Given the description of an element on the screen output the (x, y) to click on. 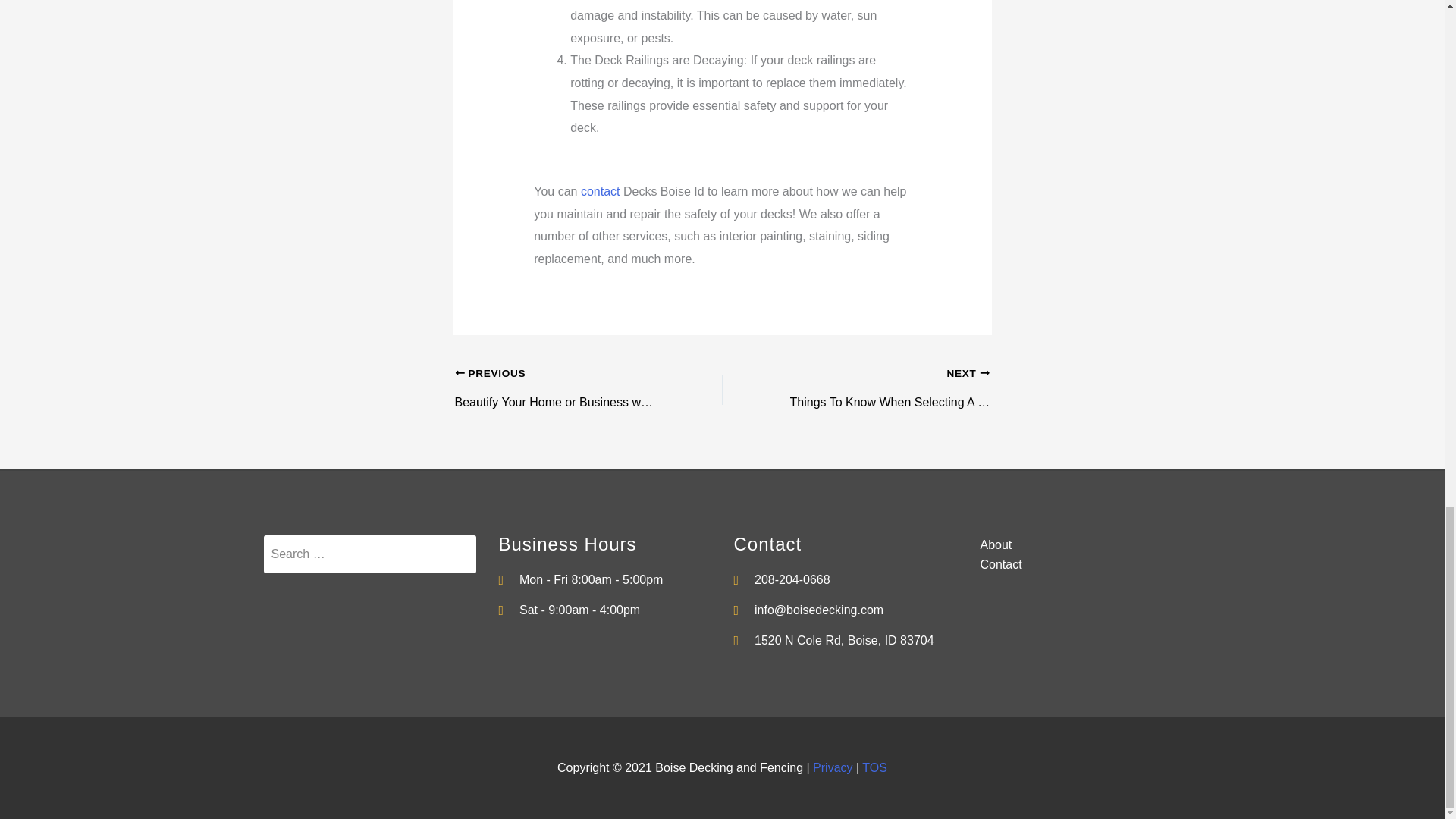
About (1074, 545)
TOS (873, 767)
208-204-0668 (839, 579)
Search (369, 554)
Beautify Your Home or Business with a New Fence in Boise Id (561, 375)
Contact (1074, 564)
Privacy (831, 767)
